Given the description of an element on the screen output the (x, y) to click on. 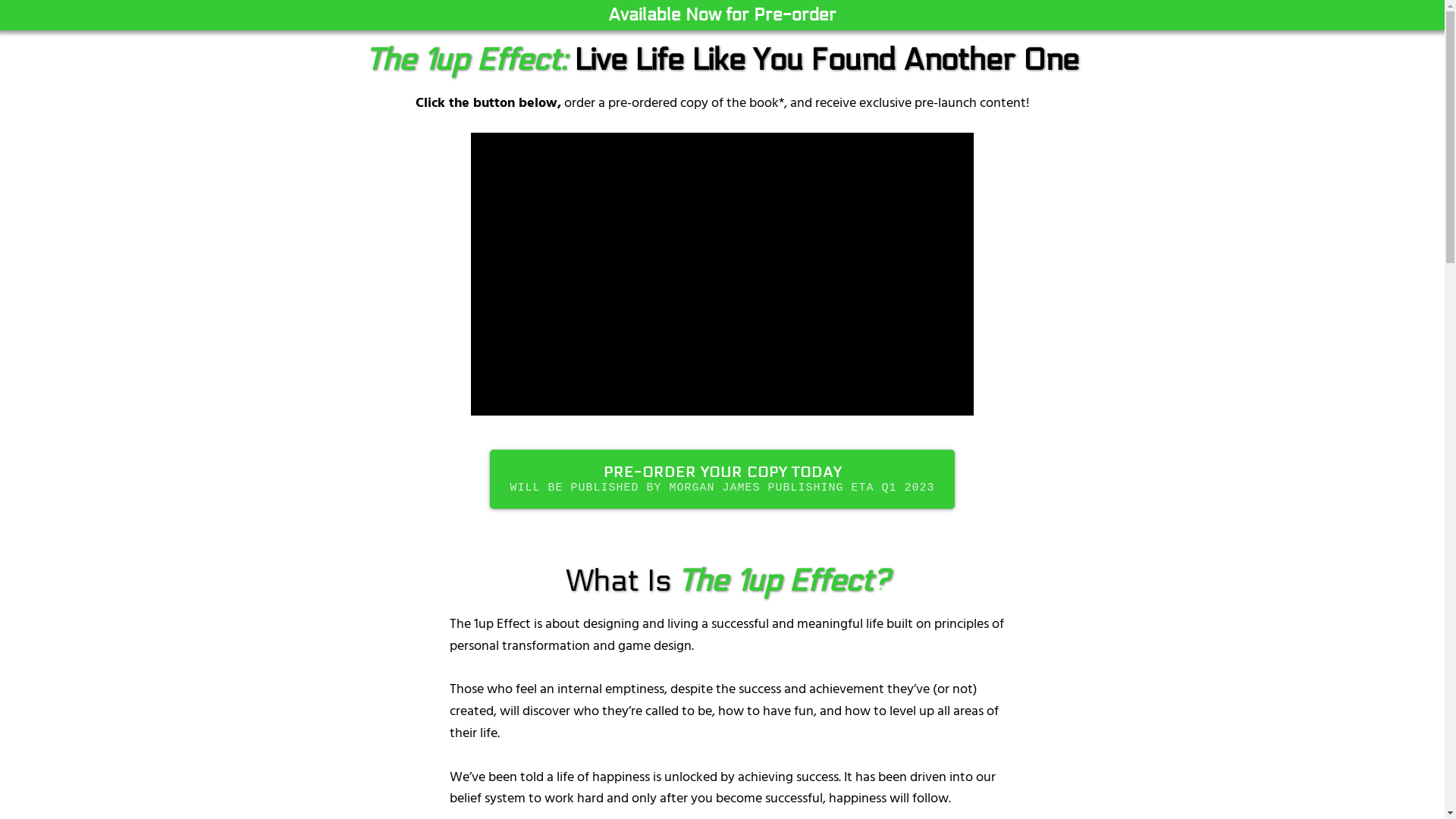
player Element type: hover (722, 273)
